Given the description of an element on the screen output the (x, y) to click on. 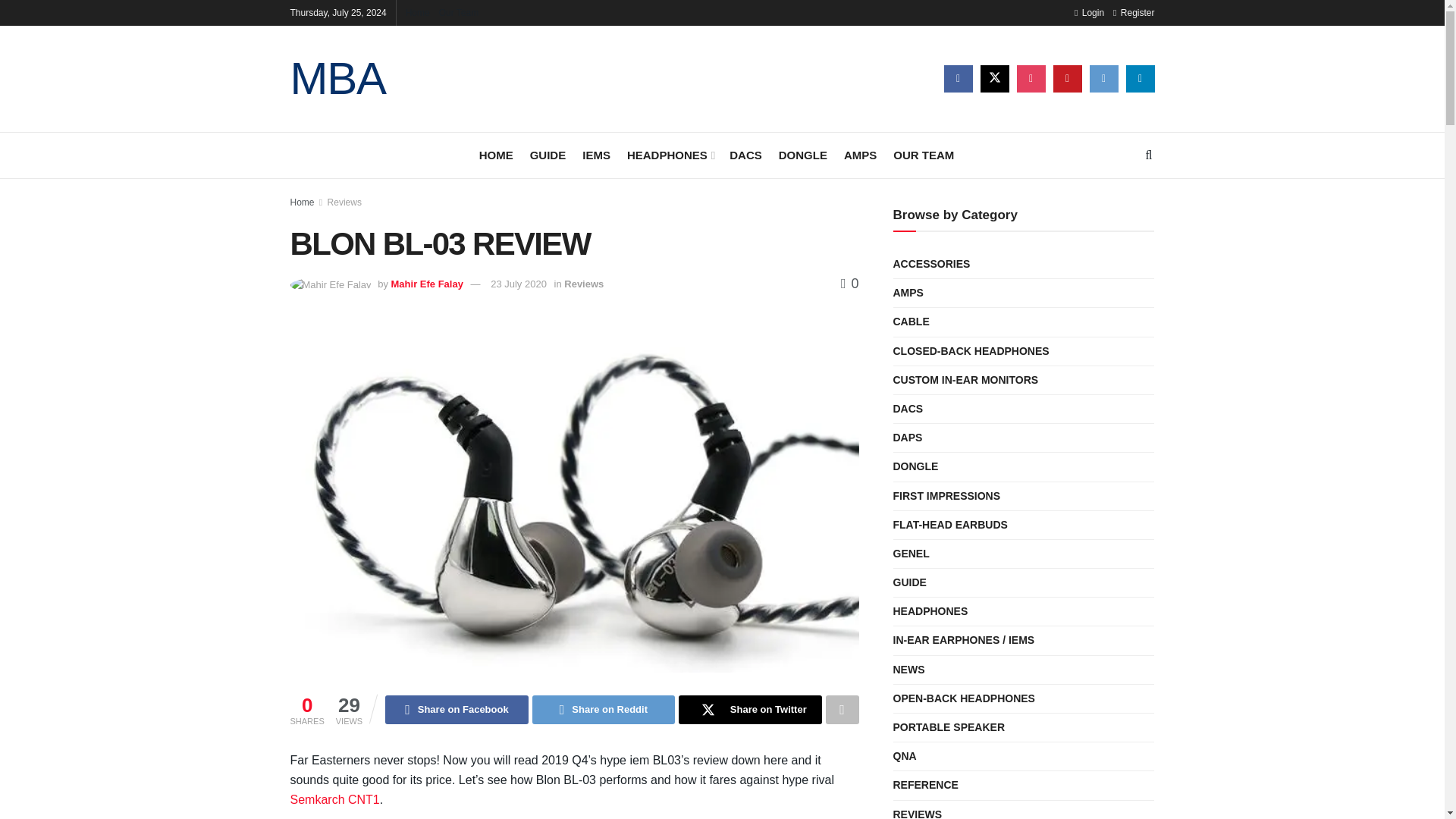
HOME (496, 155)
Home (417, 12)
Login (1088, 12)
IEMS (596, 155)
Home (301, 202)
DACS (745, 155)
GUIDE (547, 155)
Our Team (459, 12)
Register (1133, 12)
AMPS (860, 155)
OUR TEAM (923, 155)
DONGLE (802, 155)
HEADPHONES (670, 155)
MBA (337, 78)
